Given the description of an element on the screen output the (x, y) to click on. 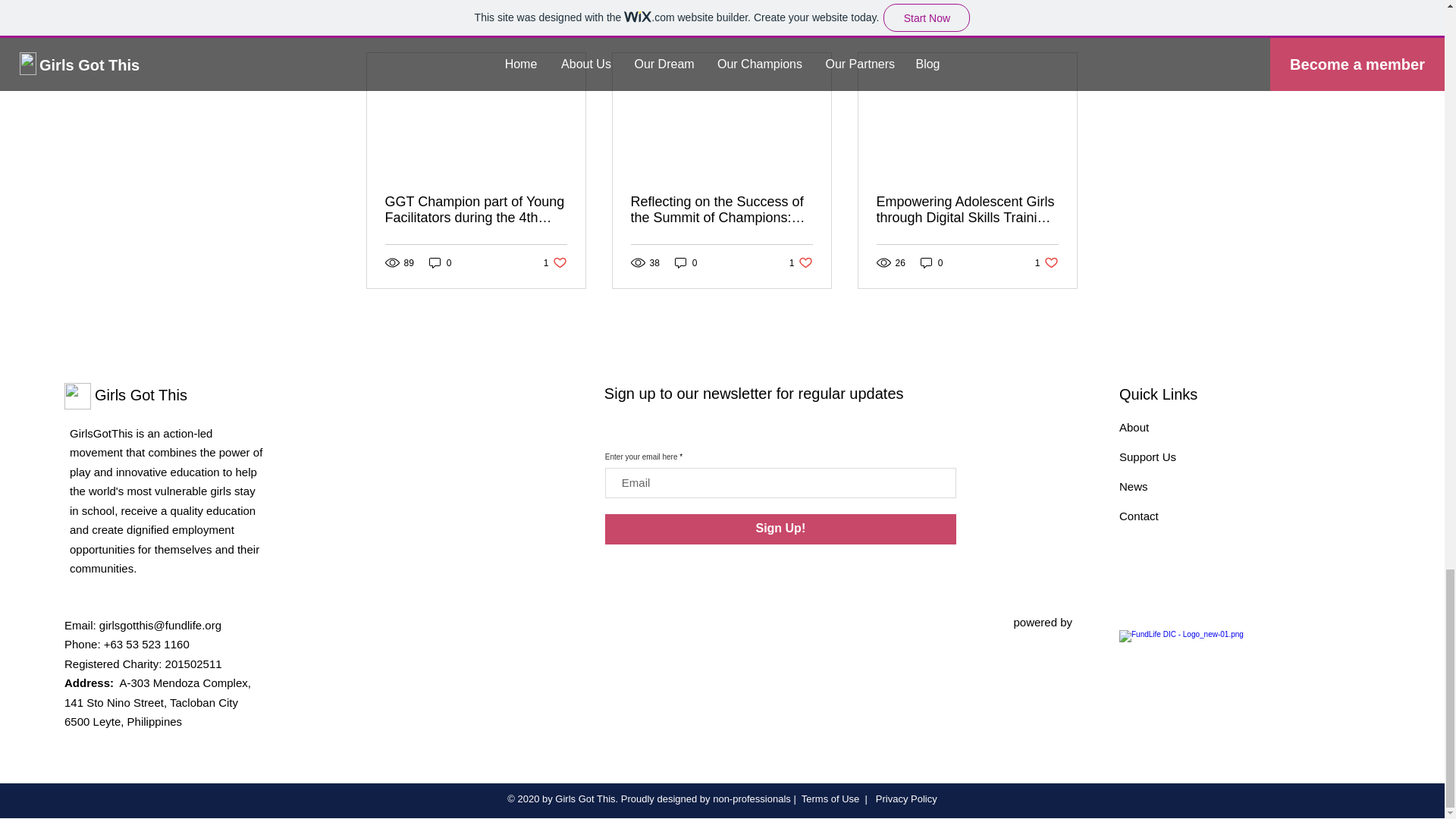
See All (1061, 25)
Sign Up! (800, 262)
About (780, 529)
0 (1133, 427)
0 (931, 262)
0 (1046, 262)
